Given the description of an element on the screen output the (x, y) to click on. 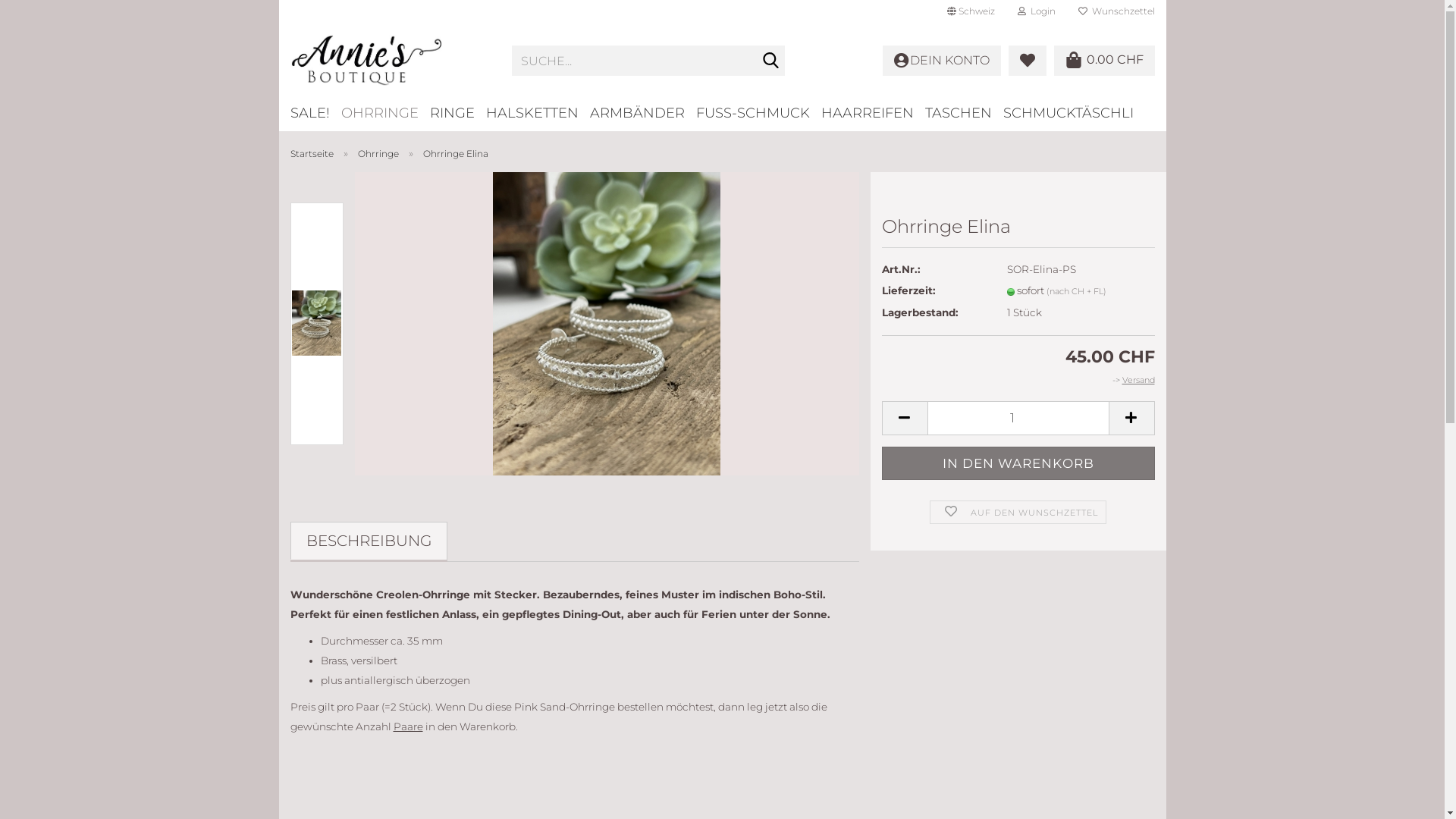
Preview: Silberne Boho-Creolen Ohrringe "Elina" PinkSand Element type: hover (316, 322)
BESCHREIBUNG Element type: text (367, 540)
0.00 CHF Element type: text (1104, 60)
Schweiz Element type: text (970, 11)
SALE! Element type: text (314, 112)
Ohrringe Element type: text (377, 153)
RINGE Element type: text (457, 112)
TASCHEN Element type: text (964, 112)
Annie's Boutique Element type: hover (389, 60)
In den Warenkorb Element type: text (1017, 463)
Versand Element type: text (1138, 379)
In den Warenkorb Element type: hover (1017, 463)
 Login Element type: text (1035, 11)
Silberne Boho-Creolen Ohrringe "Elina" PinkSand Element type: hover (606, 323)
HALSKETTEN Element type: text (537, 112)
Silberne Boho-Creolen Ohrringe "Elina" PinkSand Element type: hover (606, 322)
 Wunschzettel Element type: text (1115, 11)
Speichern Element type: text (887, 123)
DEIN KONTO Element type: text (941, 60)
AUF DEN WUNSCHZETTEL Element type: text (1018, 512)
(nach CH + FL) Element type: text (1076, 290)
Anmelden Element type: text (952, 182)
HAARREIFEN Element type: text (872, 112)
OHRRINGE Element type: text (385, 112)
FUSS-SCHMUCK Element type: text (758, 112)
Startseite Element type: text (310, 153)
